Given the description of an element on the screen output the (x, y) to click on. 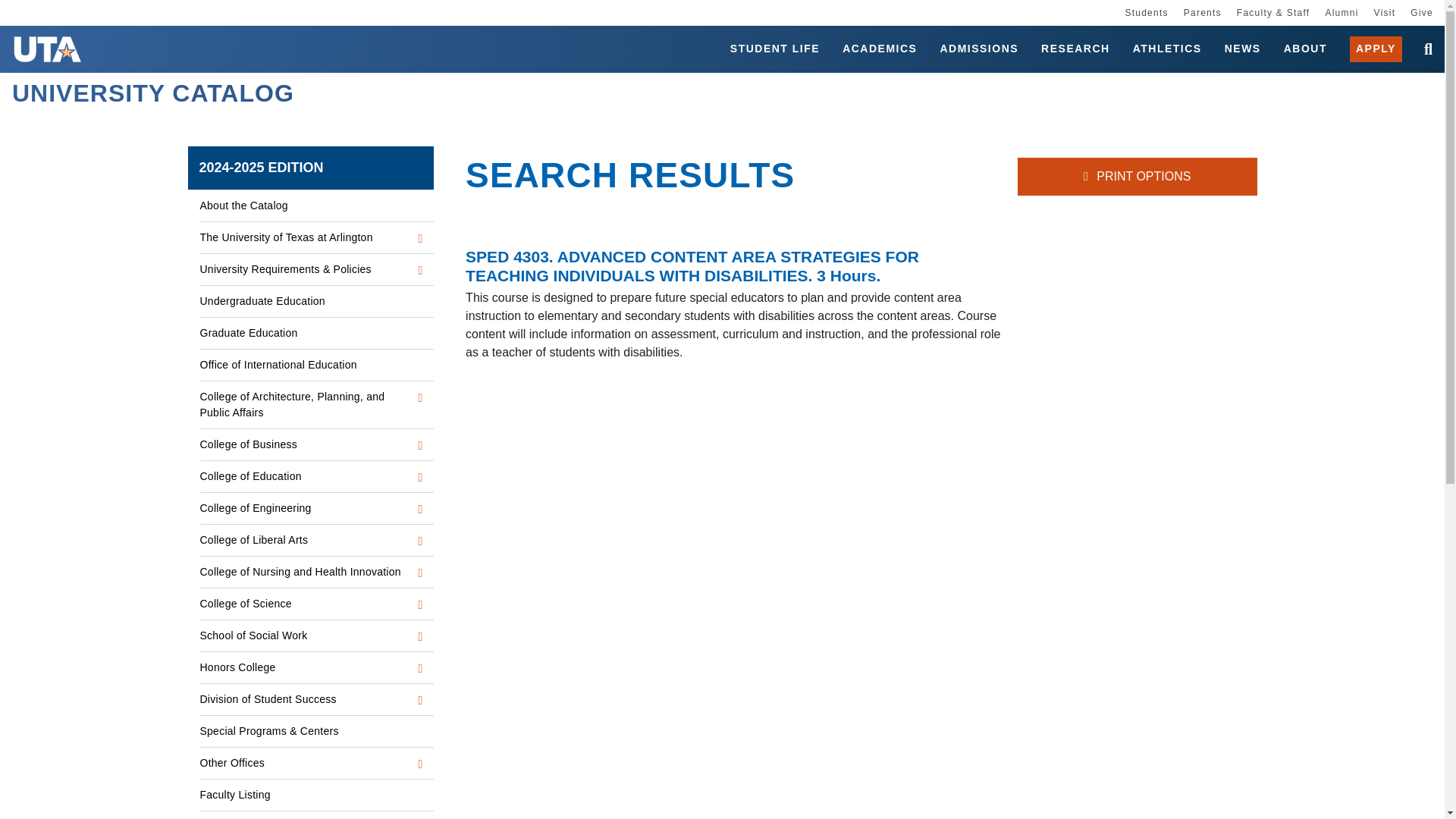
open search bar (1422, 48)
NEWS (1242, 49)
Visit (1385, 12)
Give (1421, 12)
Students (1145, 12)
RESEARCH (1075, 49)
APPLY (1375, 49)
STUDENT LIFE (774, 49)
Parents (1202, 12)
Alumni (1341, 12)
